Given the description of an element on the screen output the (x, y) to click on. 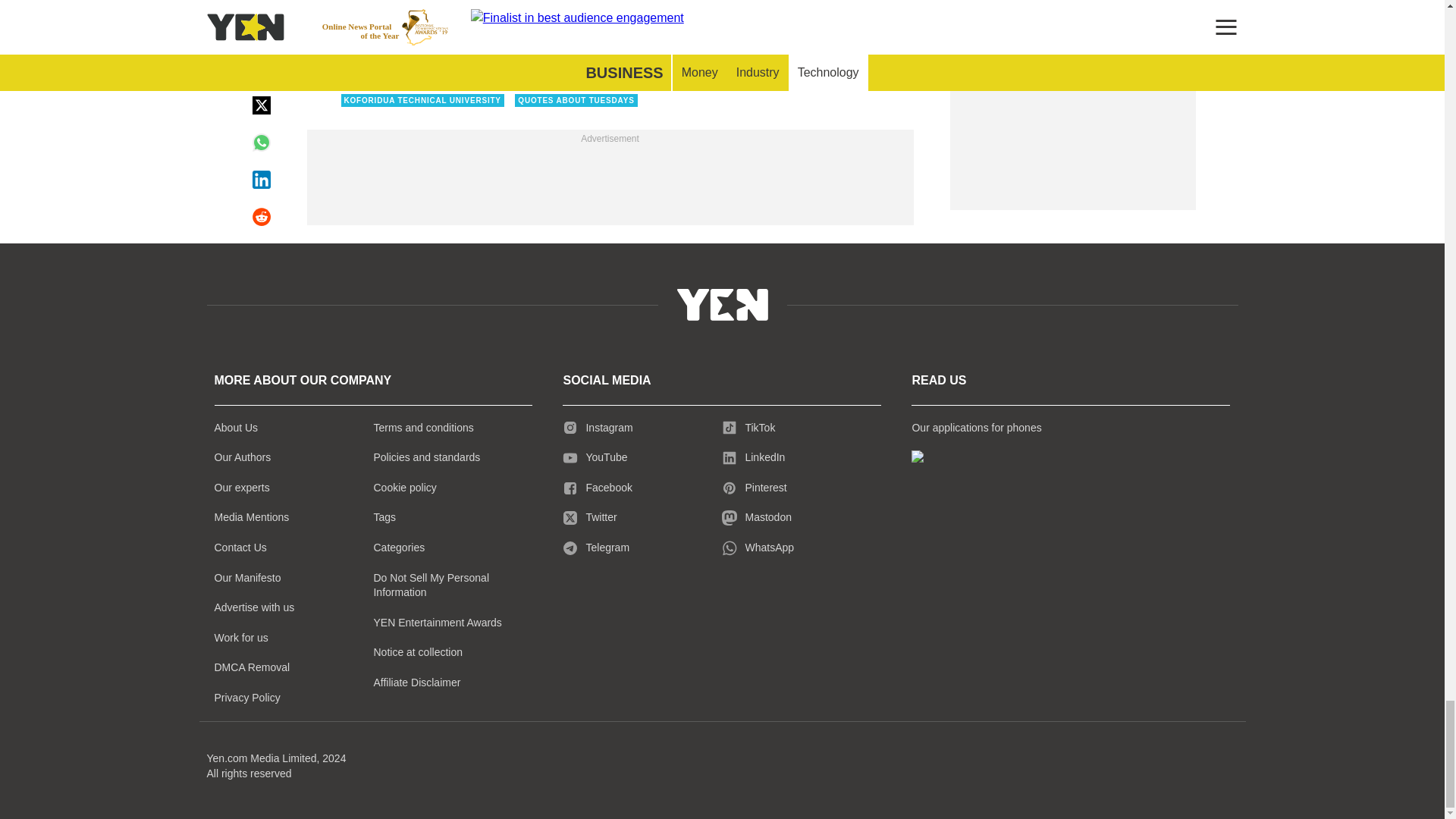
Author page (533, 31)
